Given the description of an element on the screen output the (x, y) to click on. 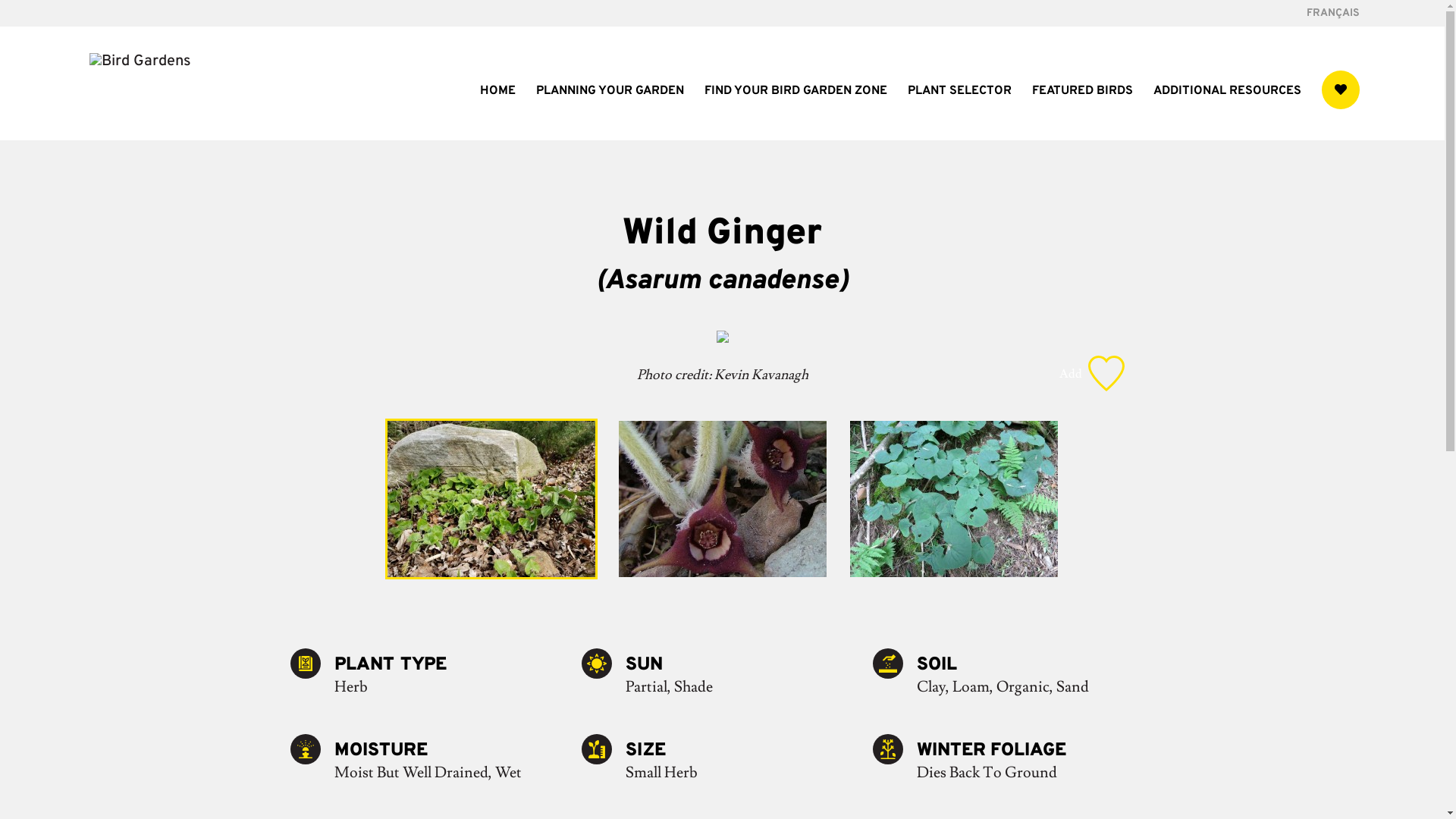
ADDITIONAL RESOURCES Element type: text (1226, 112)
HOME Element type: text (496, 112)
PLANT SELECTOR Element type: text (958, 112)
FIND YOUR BIRD GARDEN ZONE Element type: text (794, 112)
FEATURED BIRDS Element type: text (1081, 112)
PLANNING YOUR GARDEN Element type: text (609, 112)
Add Element type: text (1090, 373)
